Given the description of an element on the screen output the (x, y) to click on. 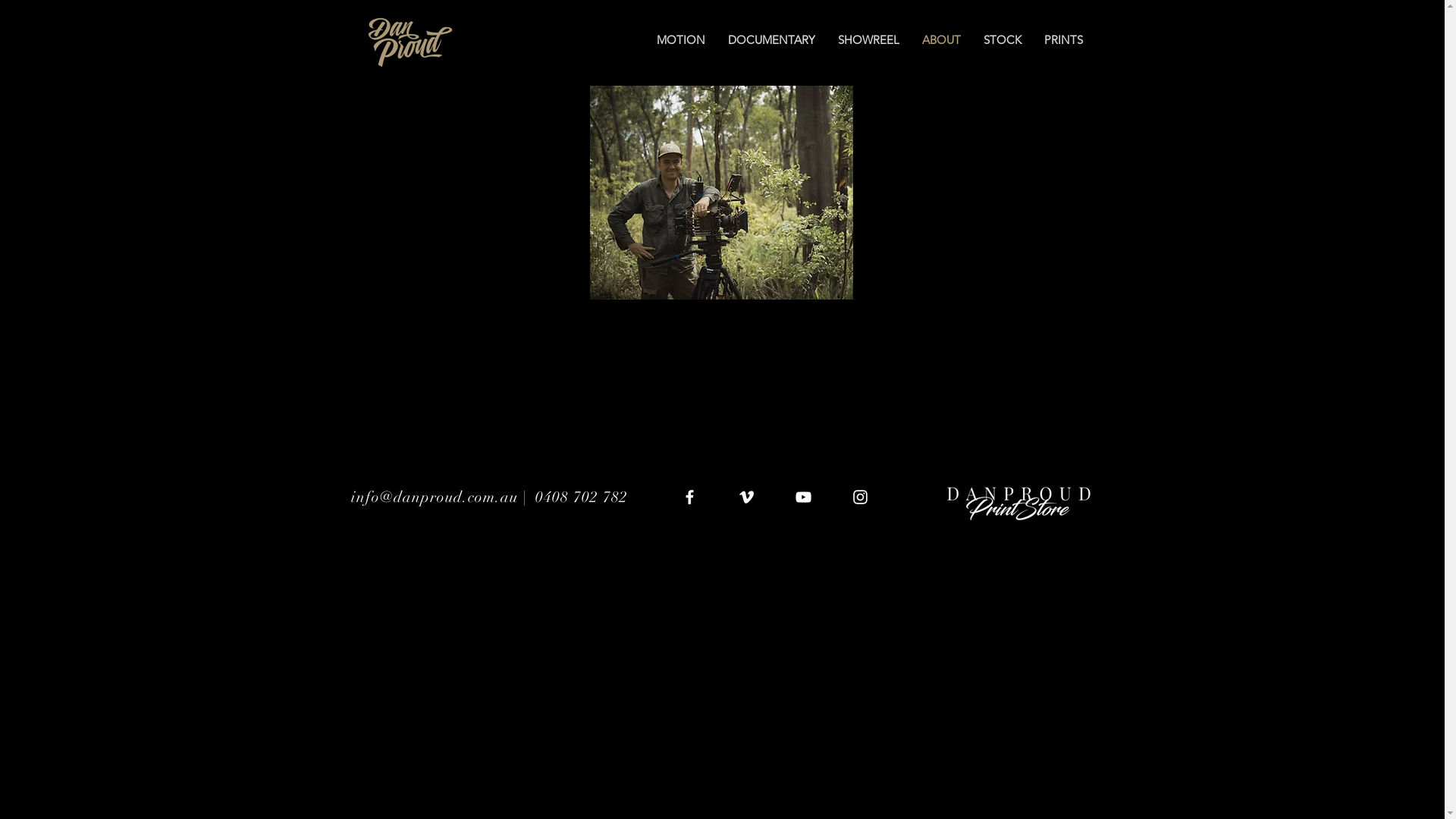
PRINTS Element type: text (1063, 40)
STOCK Element type: text (1002, 40)
DOCUMENTARY Element type: text (770, 40)
ABOUT Element type: text (940, 40)
MOTION Element type: text (679, 40)
IMG_5051 copy.jpg Element type: hover (721, 192)
info@danproud.com.au |  0408 702 782 Element type: text (488, 496)
SHOWREEL Element type: text (868, 40)
